Given the description of an element on the screen output the (x, y) to click on. 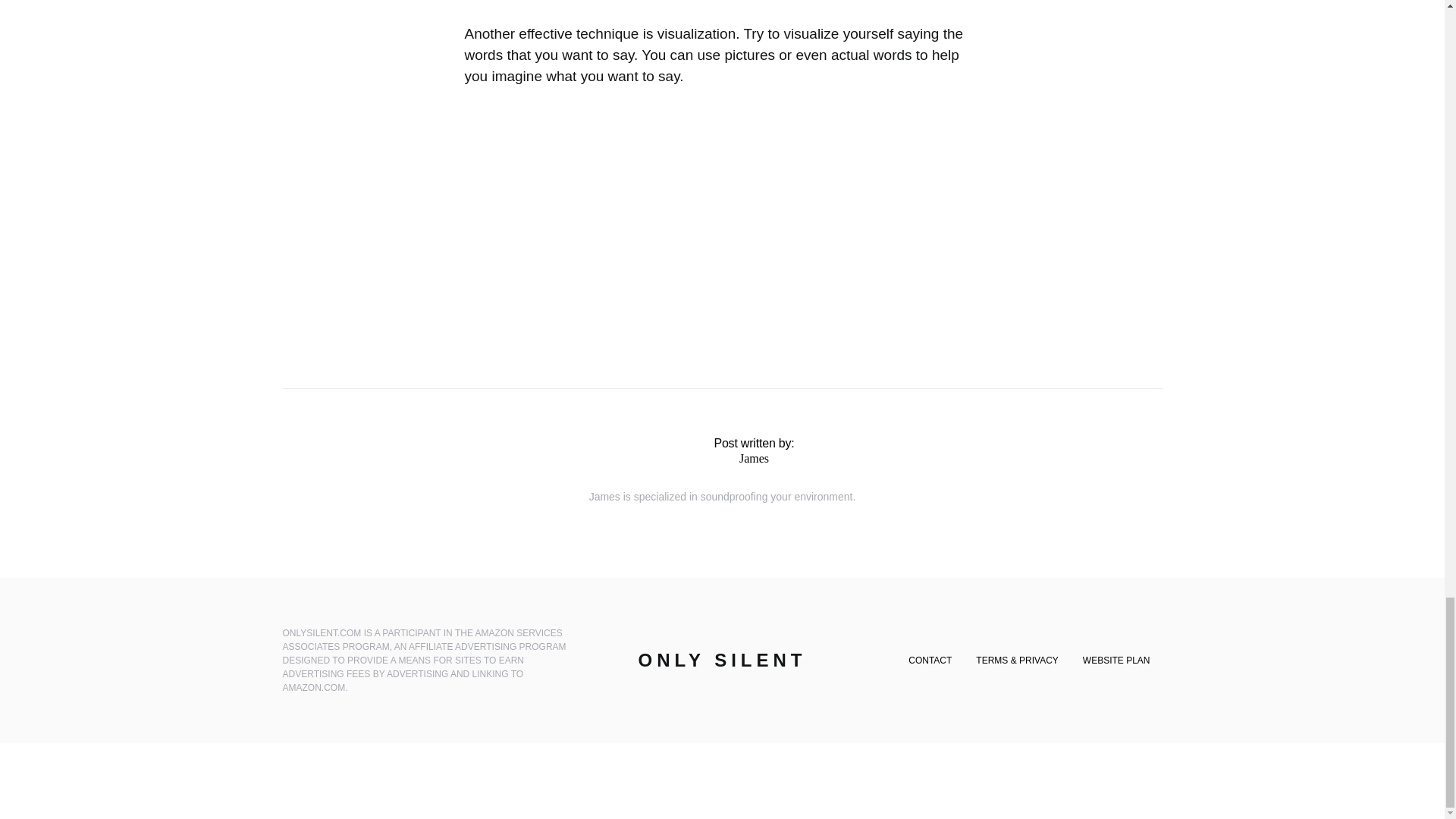
James (753, 458)
